Given the description of an element on the screen output the (x, y) to click on. 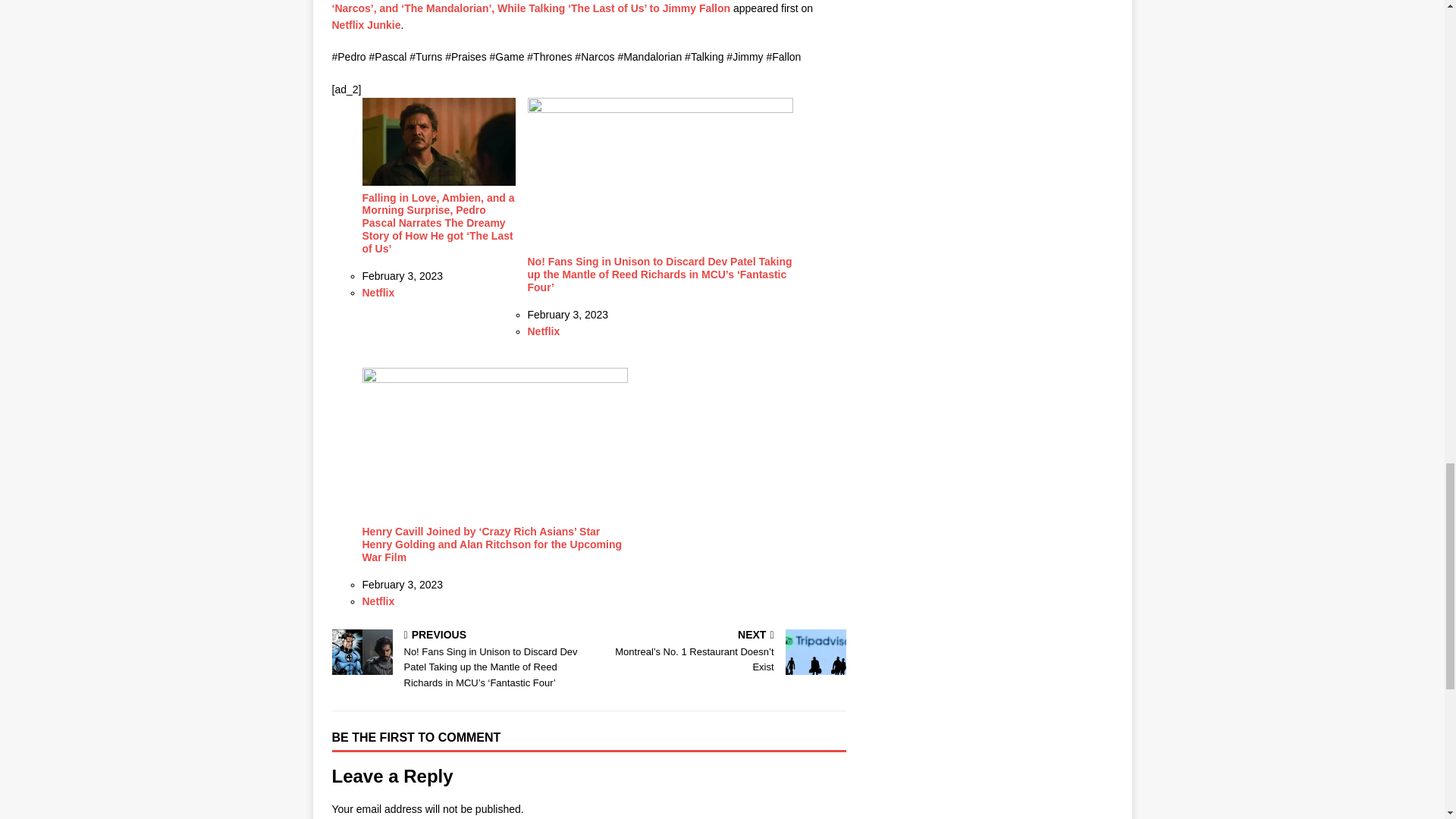
Netflix (543, 331)
Netflix (378, 292)
Netflix (378, 601)
Netflix Junkie (366, 24)
